Given the description of an element on the screen output the (x, y) to click on. 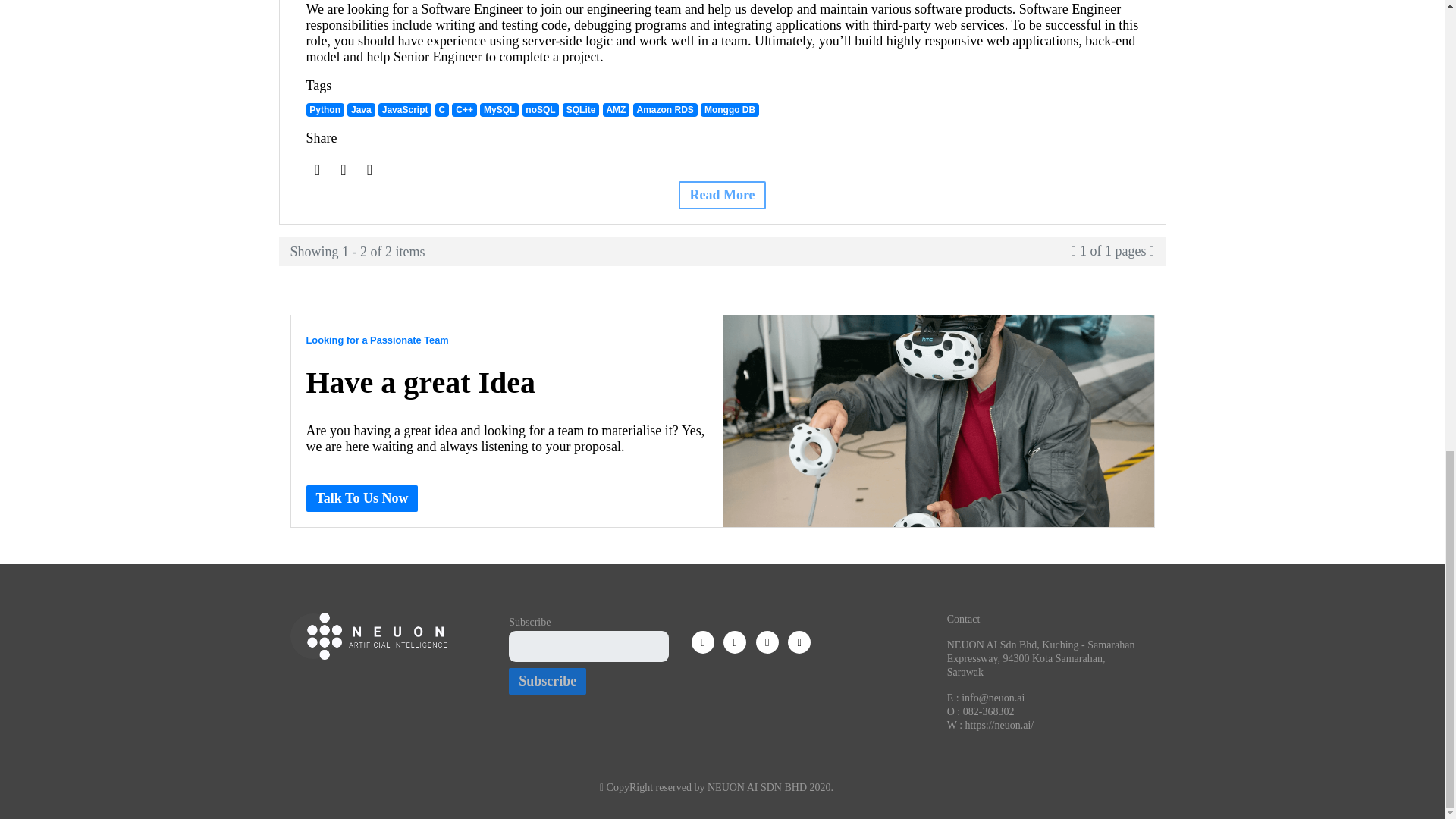
Read More (721, 194)
Subscribe (547, 681)
Talk To Us Now (362, 498)
